Given the description of an element on the screen output the (x, y) to click on. 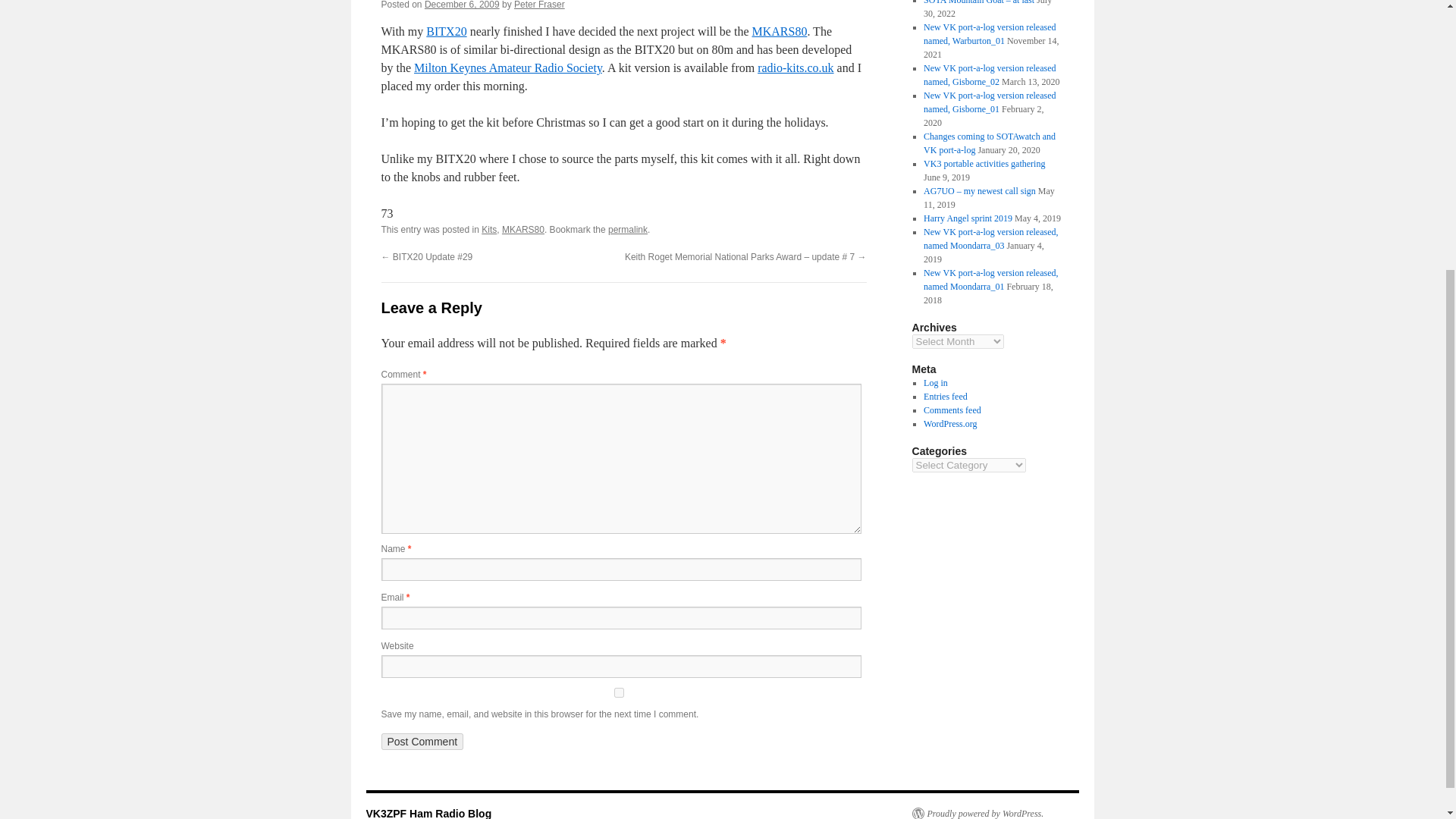
4:23 am (462, 4)
BITX20 (445, 31)
Milton Keynes Amateur Radio Society (507, 67)
Post Comment (421, 741)
permalink (627, 229)
yes (618, 692)
MKARS80 (778, 31)
Peter Fraser (538, 4)
Kits (488, 229)
MKARS80 (523, 229)
